Given the description of an element on the screen output the (x, y) to click on. 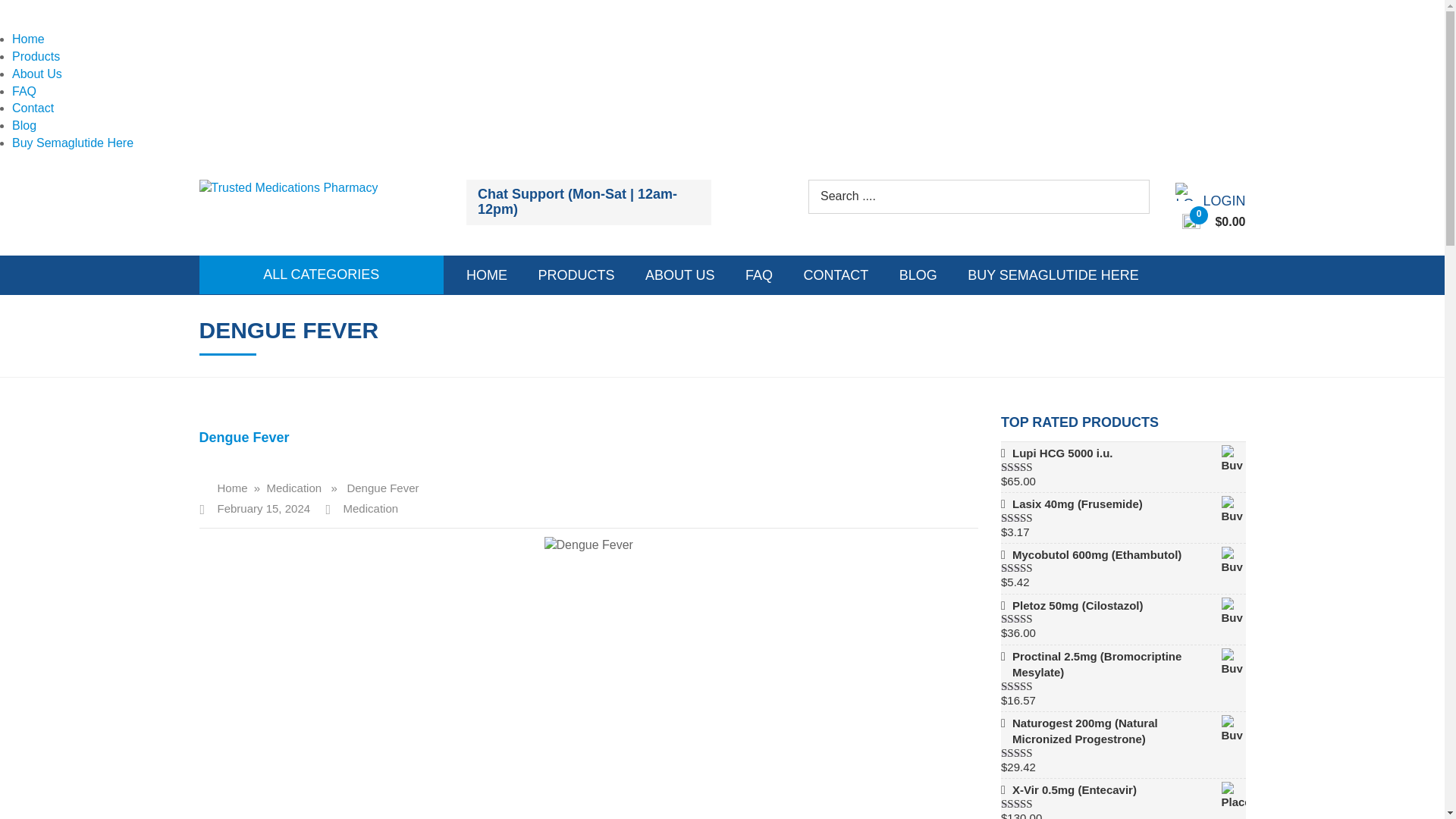
ALL CATEGORIES (321, 274)
View your shopping cart (1214, 222)
Blog (23, 124)
About Us (36, 73)
Contact (32, 107)
Buy Semaglutide Here (72, 142)
Trusted Medications Pharmacy (287, 187)
FAQ (23, 91)
Home (28, 38)
Products (35, 56)
